Given the description of an element on the screen output the (x, y) to click on. 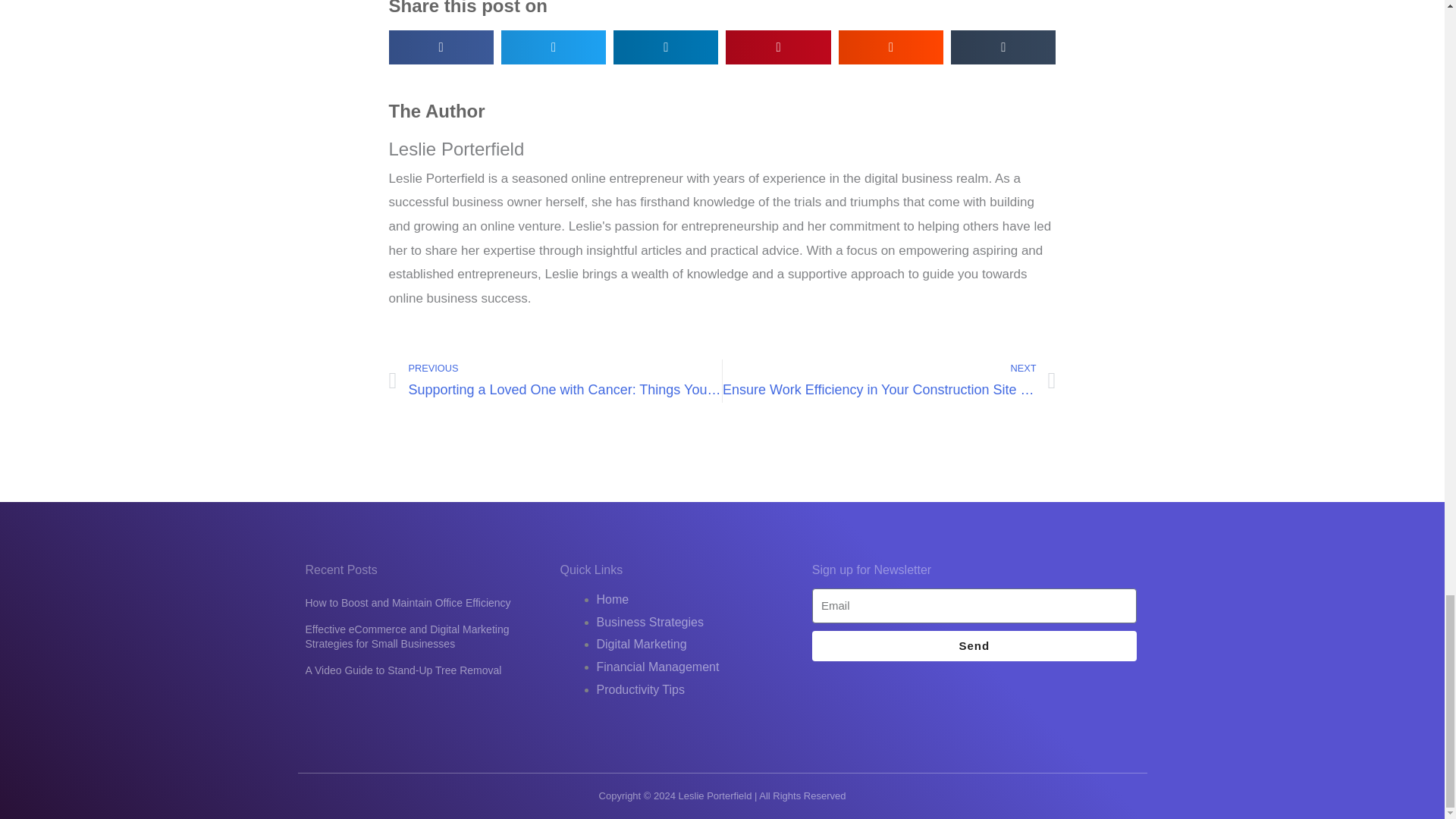
Digital Marketing (640, 644)
How to Boost and Maintain Office Efficiency (407, 603)
Productivity Tips (639, 689)
Send (974, 644)
Business Strategies (649, 621)
Home (611, 599)
A Video Guide to Stand-Up Tree Removal (402, 670)
